Given the description of an element on the screen output the (x, y) to click on. 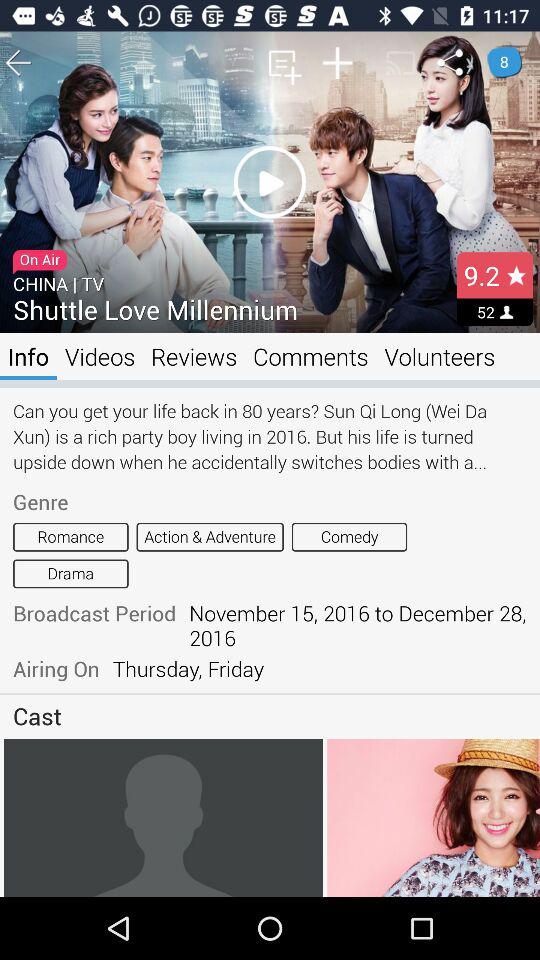
tap icon next to the action & adventure item (349, 536)
